Given the description of an element on the screen output the (x, y) to click on. 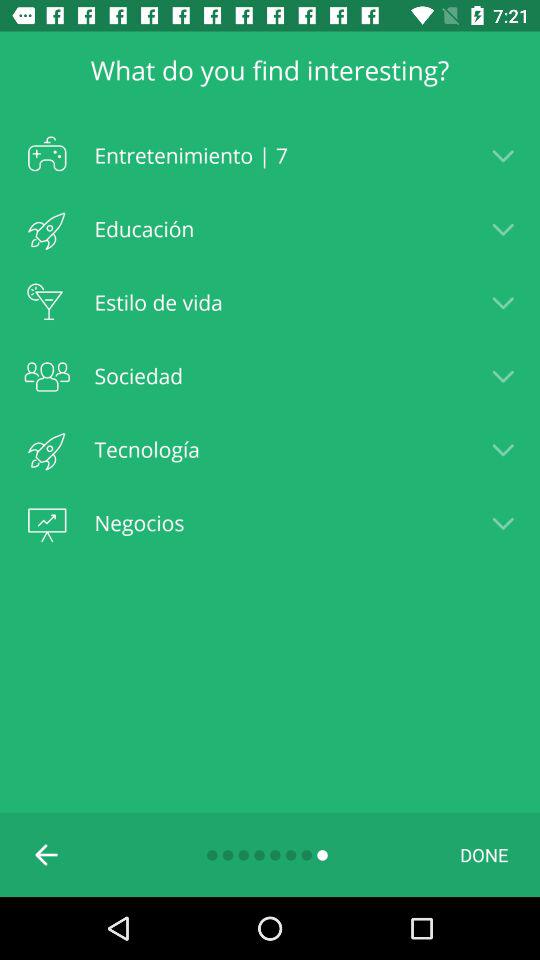
click the done item (484, 854)
